Given the description of an element on the screen output the (x, y) to click on. 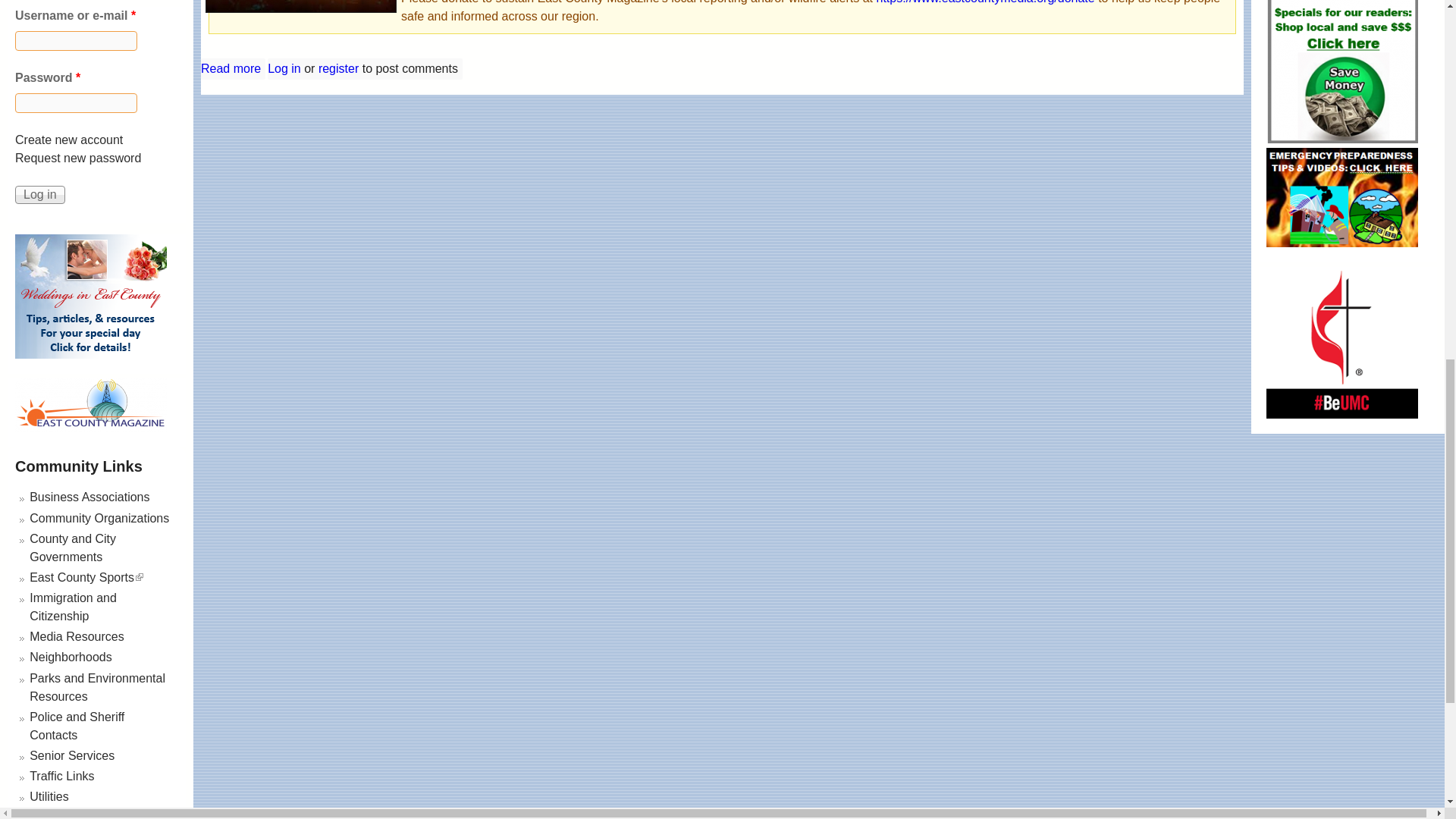
Log in (39, 194)
